Given the description of an element on the screen output the (x, y) to click on. 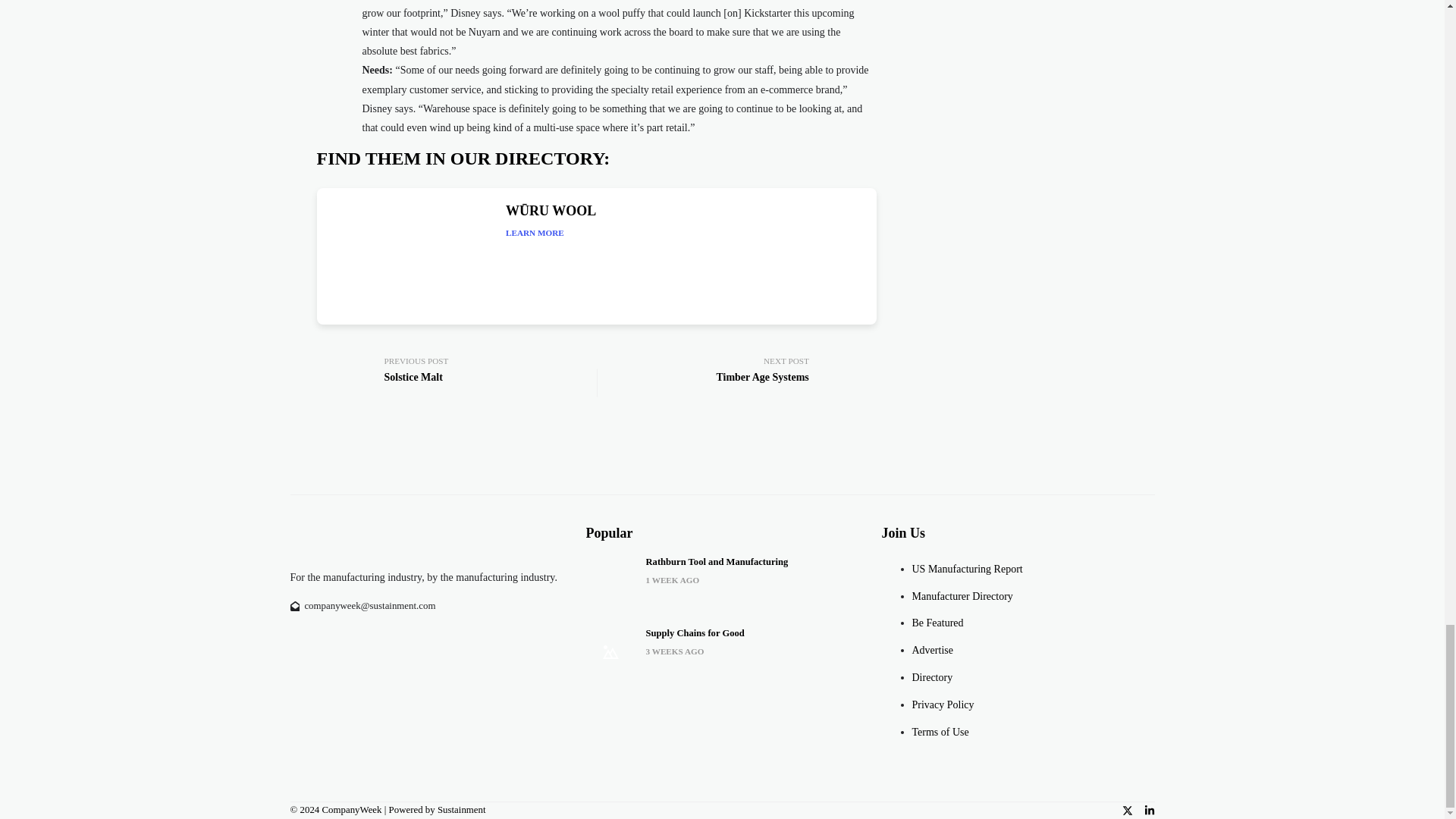
LEARN MORE (534, 232)
